Given the description of an element on the screen output the (x, y) to click on. 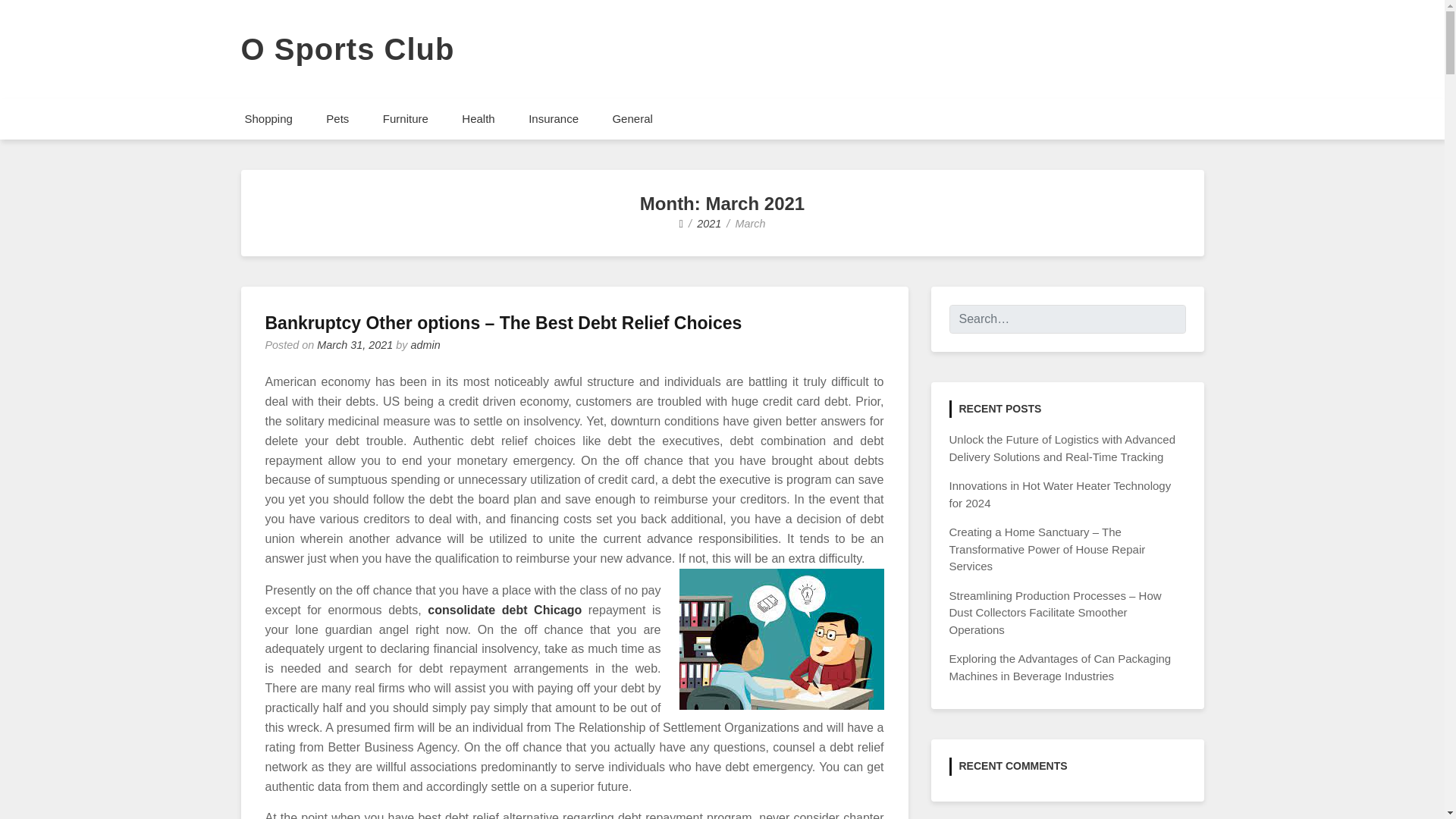
General (631, 118)
Pets (337, 118)
Furniture (406, 118)
O Sports Club (347, 49)
Insurance (553, 118)
admin (425, 345)
Shopping (267, 118)
Health (477, 118)
consolidate debt Chicago (504, 609)
March 31, 2021 (355, 345)
2021 (708, 223)
